Given the description of an element on the screen output the (x, y) to click on. 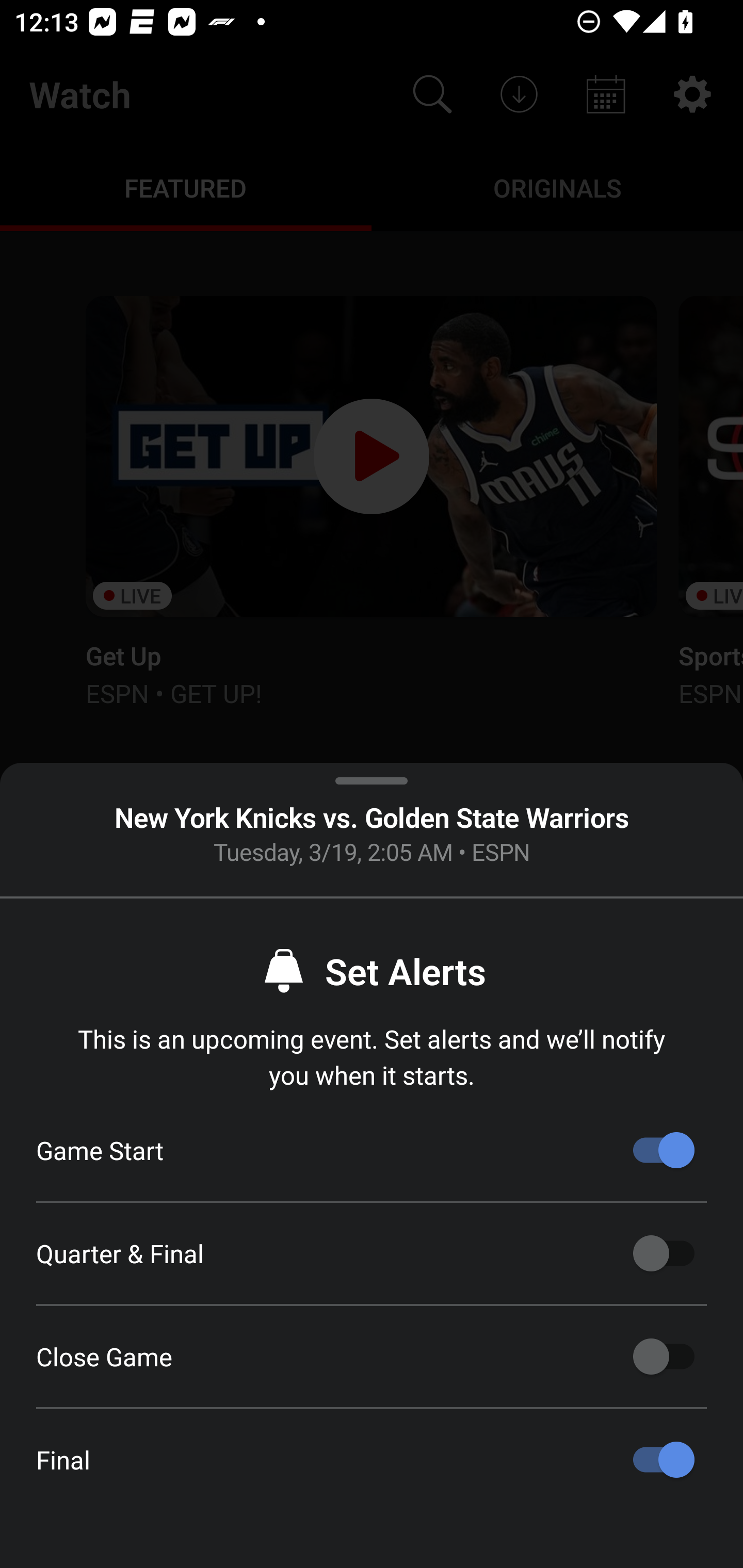
Quarter & Final (663, 1253)
Close Game (663, 1356)
